Given the description of an element on the screen output the (x, y) to click on. 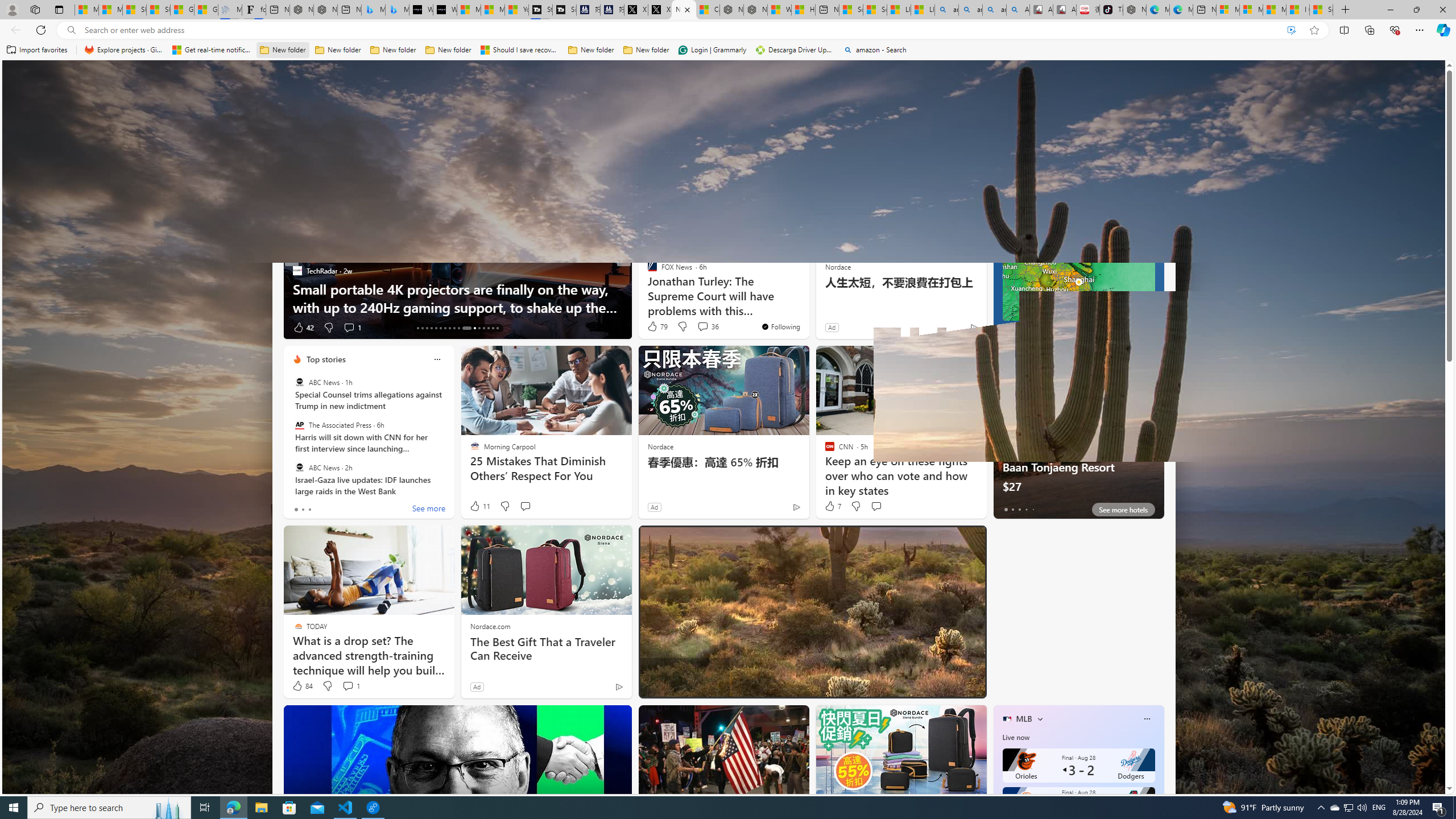
MLB (1024, 718)
This story is trending (255, 329)
Microsoft Start Sports (529, 126)
The Weather Channel (647, 270)
Page settings (1420, 78)
AutomationID: tab-37 (483, 328)
Hide this story (774, 179)
amazon - Search (970, 9)
Moderate air quality (1150, 208)
Enhance video (1291, 29)
19 Missteps That Will Make Others Lose All Respect for You (807, 298)
Edit Background (1430, 737)
Money (497, 151)
Search (520, 78)
